Given the description of an element on the screen output the (x, y) to click on. 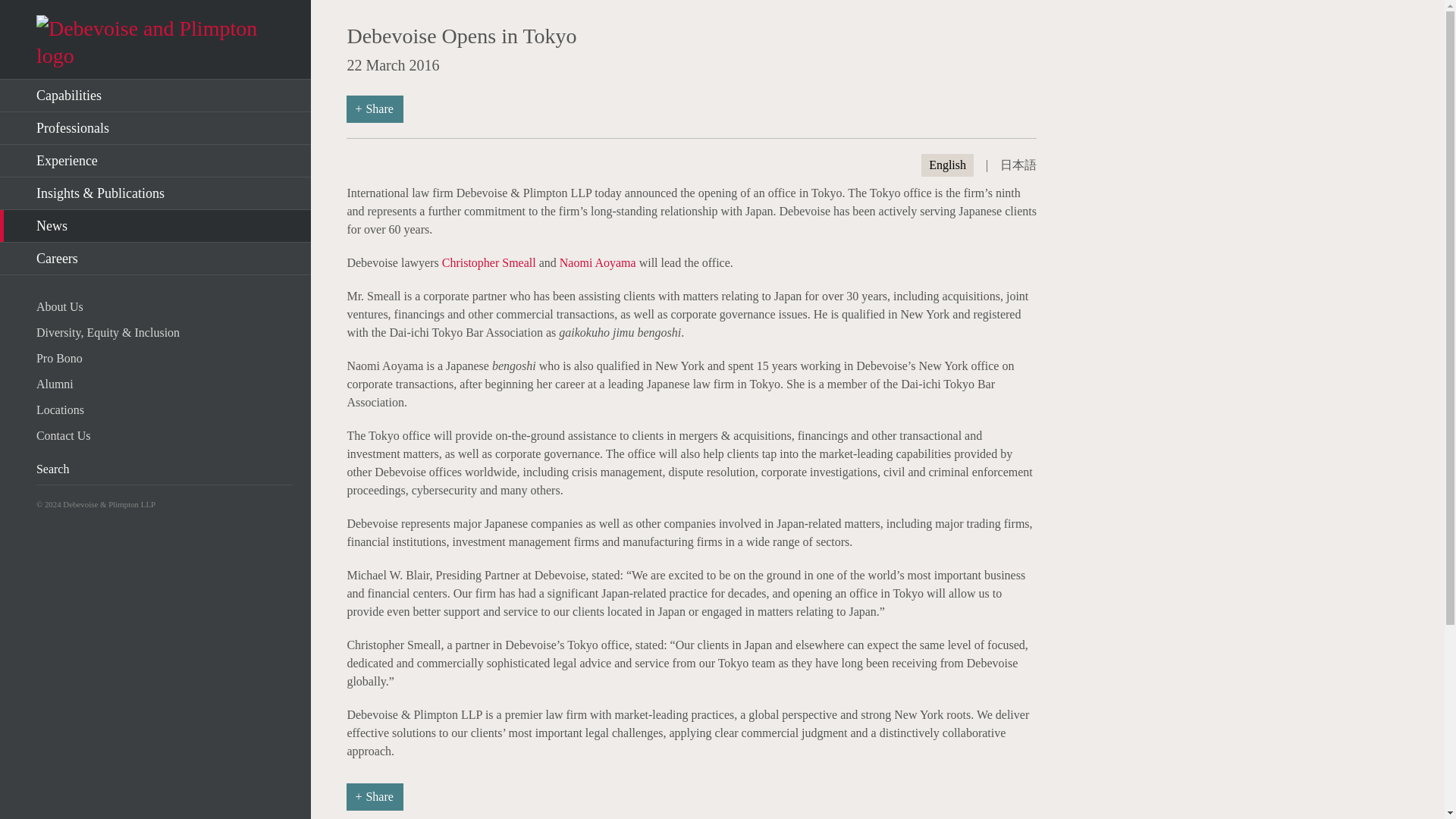
About Us (164, 307)
News (155, 225)
Locations (164, 410)
Pro Bono (164, 358)
Share (374, 796)
Contact Us (164, 435)
Capabilities (155, 95)
Experience (155, 160)
Share (374, 108)
Search (243, 469)
